Given the description of an element on the screen output the (x, y) to click on. 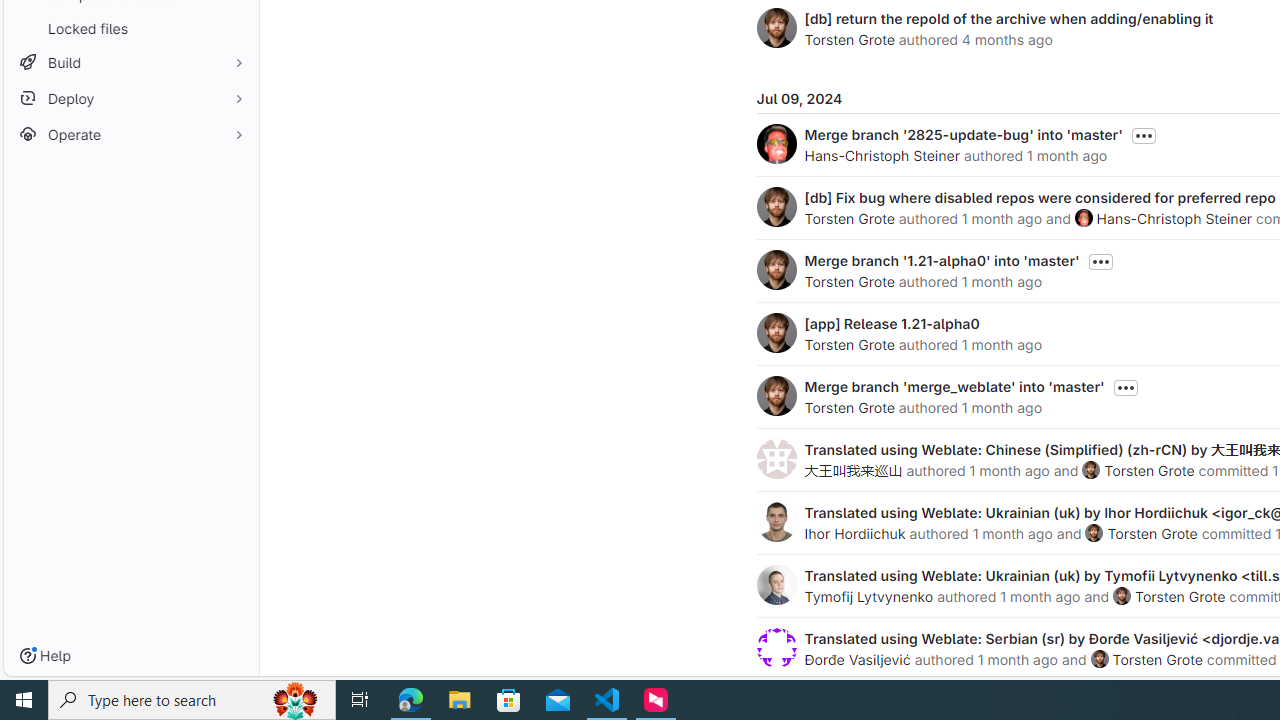
Torsten Grote's avatar (1099, 659)
Tymofij Lytvynenko's avatar (776, 584)
Operate (130, 134)
Pin Locked files (234, 28)
Microsoft Edge - 1 running window (411, 699)
Type here to search (191, 699)
Ihor Hordiichuk (854, 533)
Help (45, 655)
Merge branch 'merge_weblate' into 'master' (953, 386)
Merge branch '1.21-alpha0' into 'master' (941, 260)
Torsten Grote (1157, 659)
Deploy (130, 98)
Toggle commit description (1125, 388)
Build (130, 62)
